Given the description of an element on the screen output the (x, y) to click on. 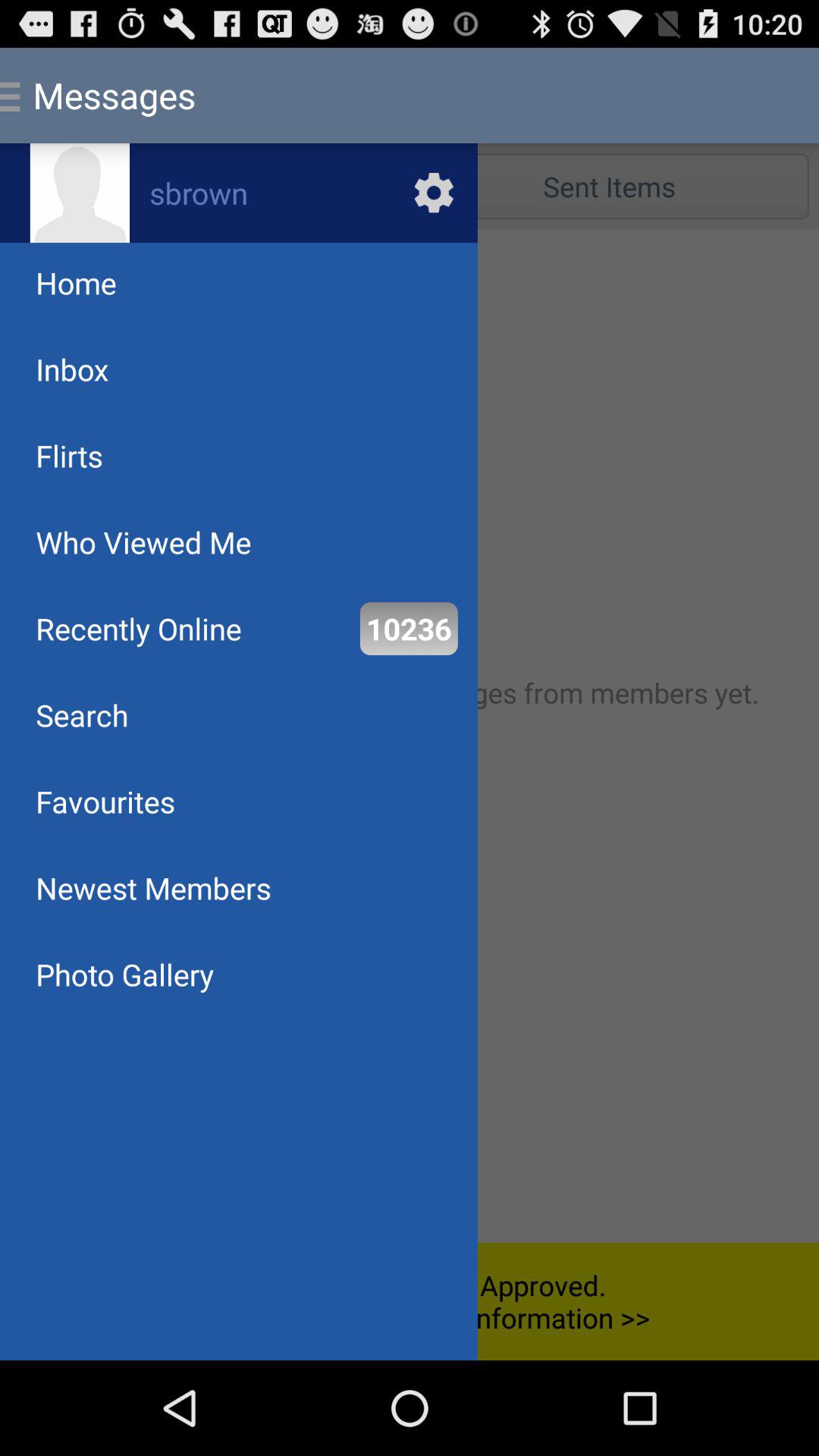
turn on icon above photo gallery app (153, 887)
